Given the description of an element on the screen output the (x, y) to click on. 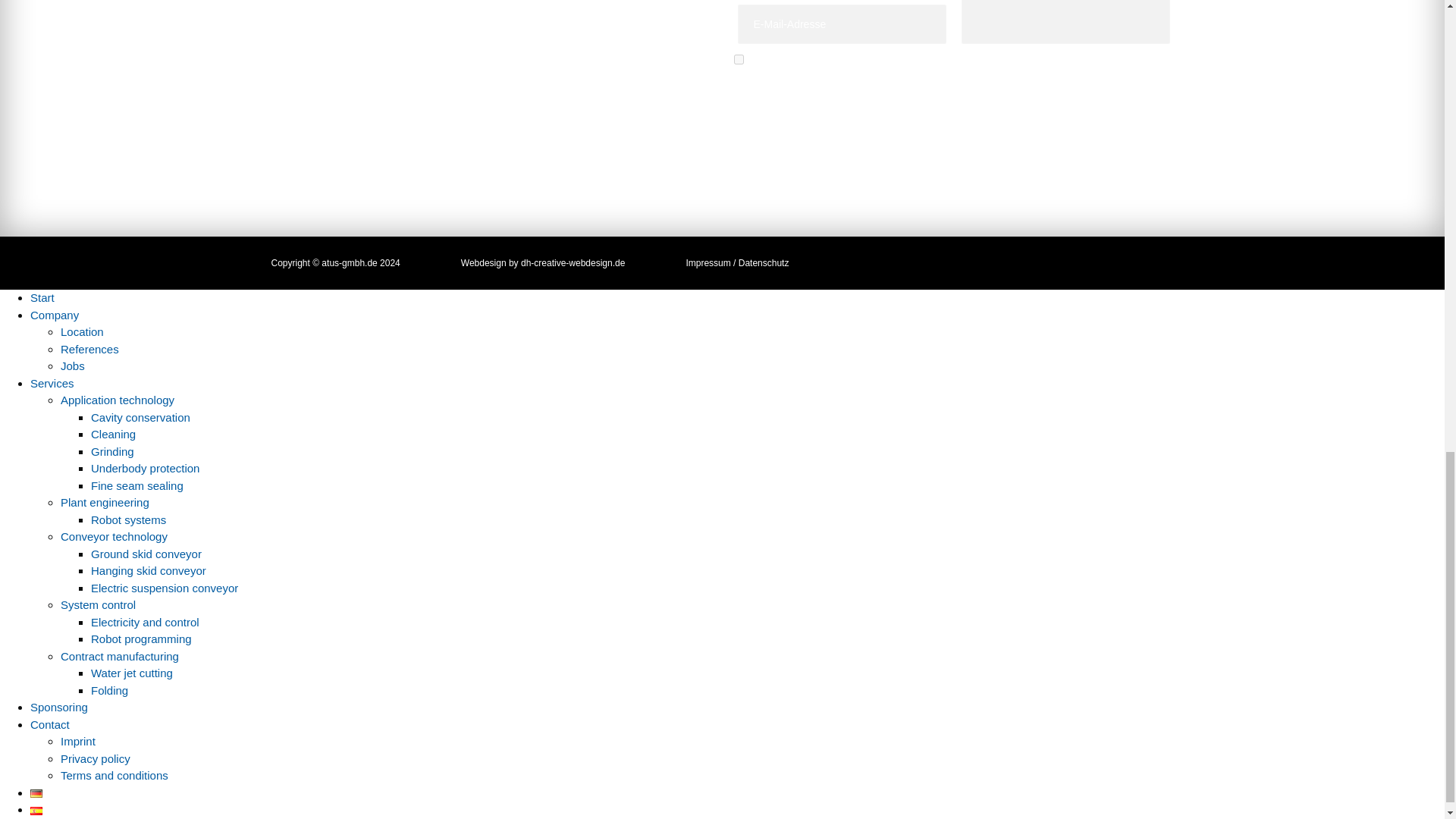
Datenschutzbestimmungen (839, 78)
1 (738, 59)
